Given the description of an element on the screen output the (x, y) to click on. 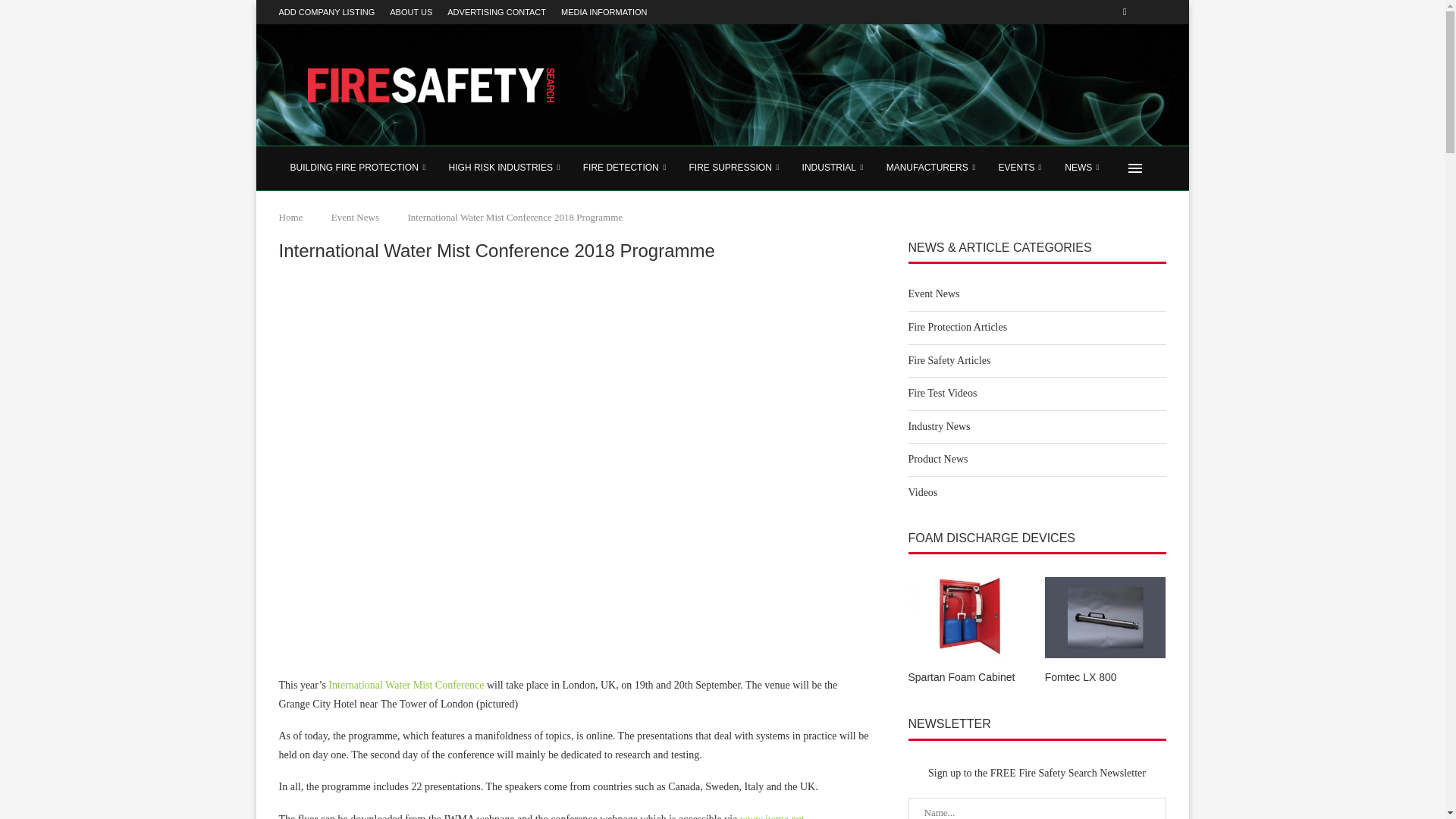
FIRE DETECTION (625, 167)
HIGH RISK INDUSTRIES (505, 167)
MEDIA INFORMATION (603, 12)
ABOUT US (411, 12)
FIRE SUPRESSION (733, 167)
ADD COMPANY LISTING (327, 12)
ADVERTISING CONTACT (496, 12)
BUILDING FIRE PROTECTION (358, 167)
